Given the description of an element on the screen output the (x, y) to click on. 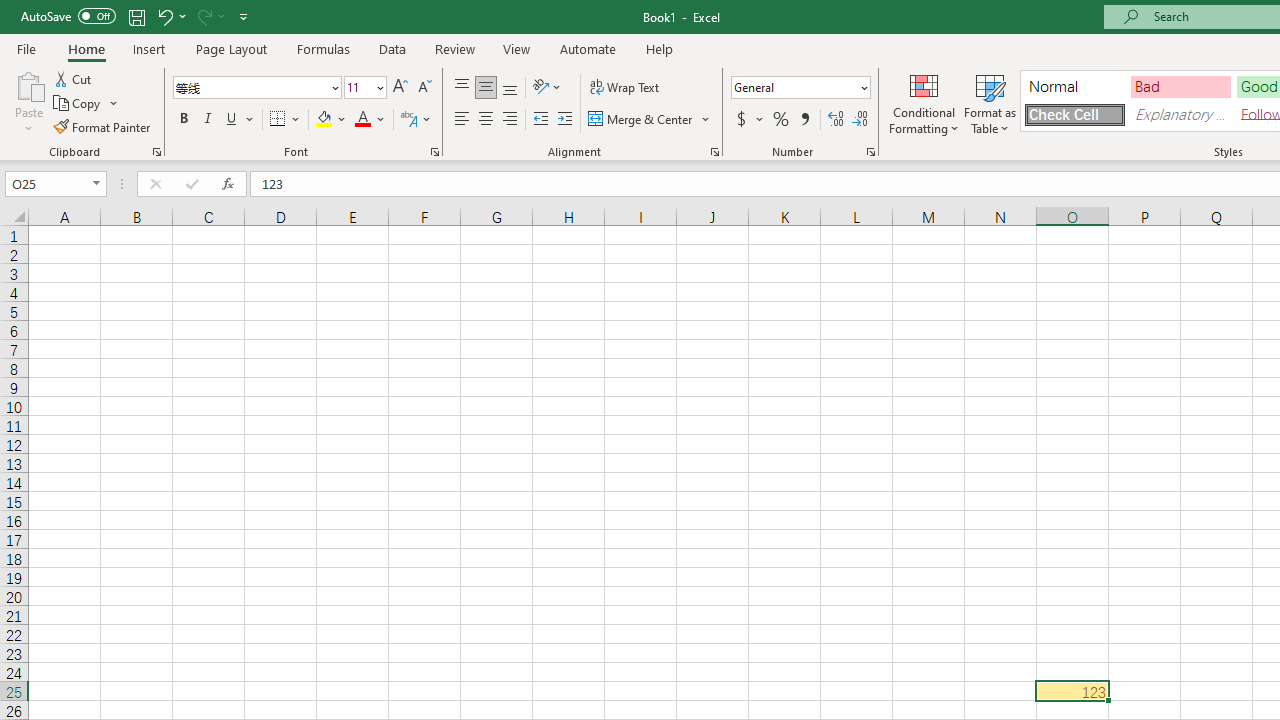
Center (485, 119)
Copy (85, 103)
Wrap Text (624, 87)
Format Cell Number (870, 151)
Font Size (365, 87)
Decrease Indent (540, 119)
Automate (588, 48)
Number Format (800, 87)
Increase Decimal (836, 119)
Name Box (46, 183)
Conditional Formatting (924, 102)
Bottom Border (278, 119)
Undo (170, 15)
Format Painter (103, 126)
